Given the description of an element on the screen output the (x, y) to click on. 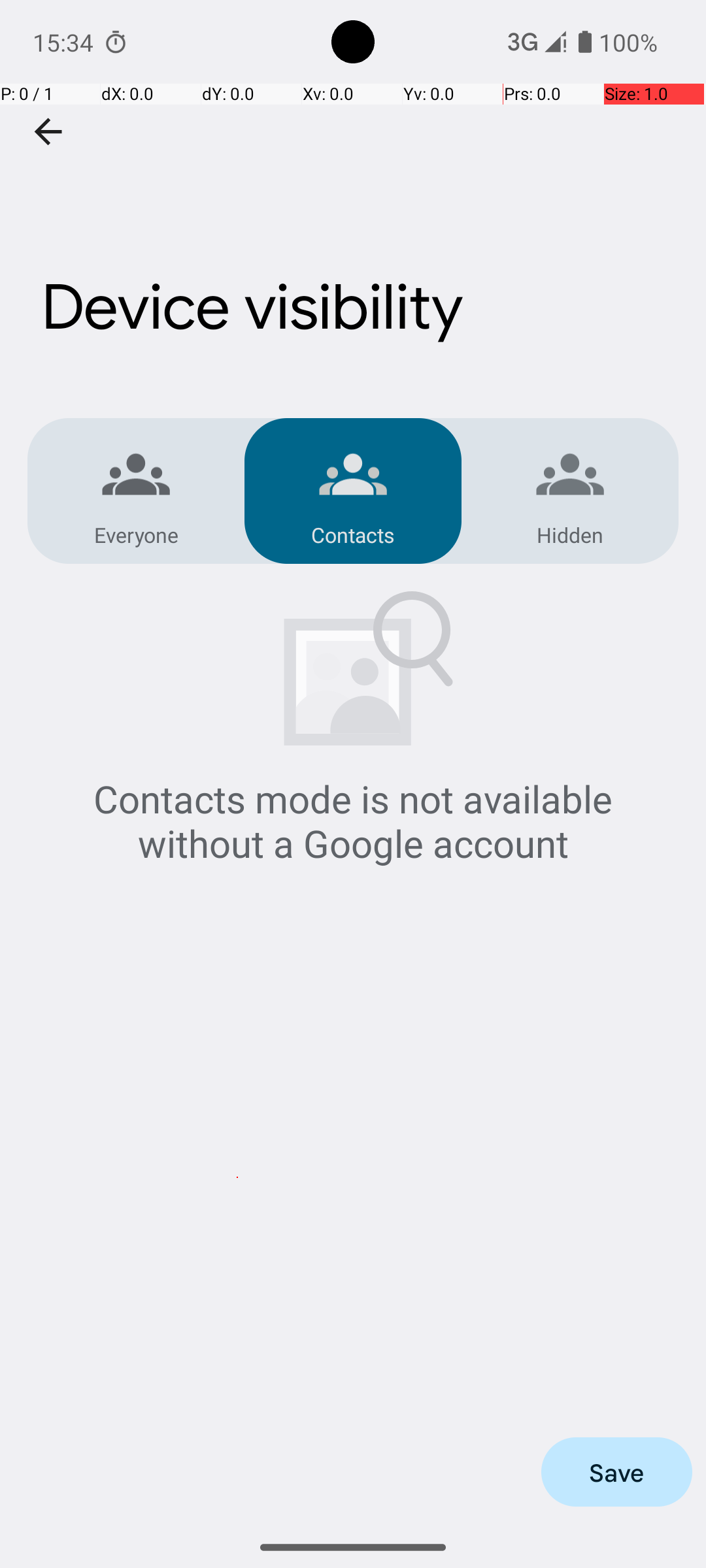
Device visibility Element type: android.widget.FrameLayout (353, 236)
Contacts mode is not available without a Google account Element type: android.widget.TextView (352, 820)
Everyone Element type: android.widget.TextView (135, 534)
Hidden Element type: android.widget.TextView (569, 534)
